Given the description of an element on the screen output the (x, y) to click on. 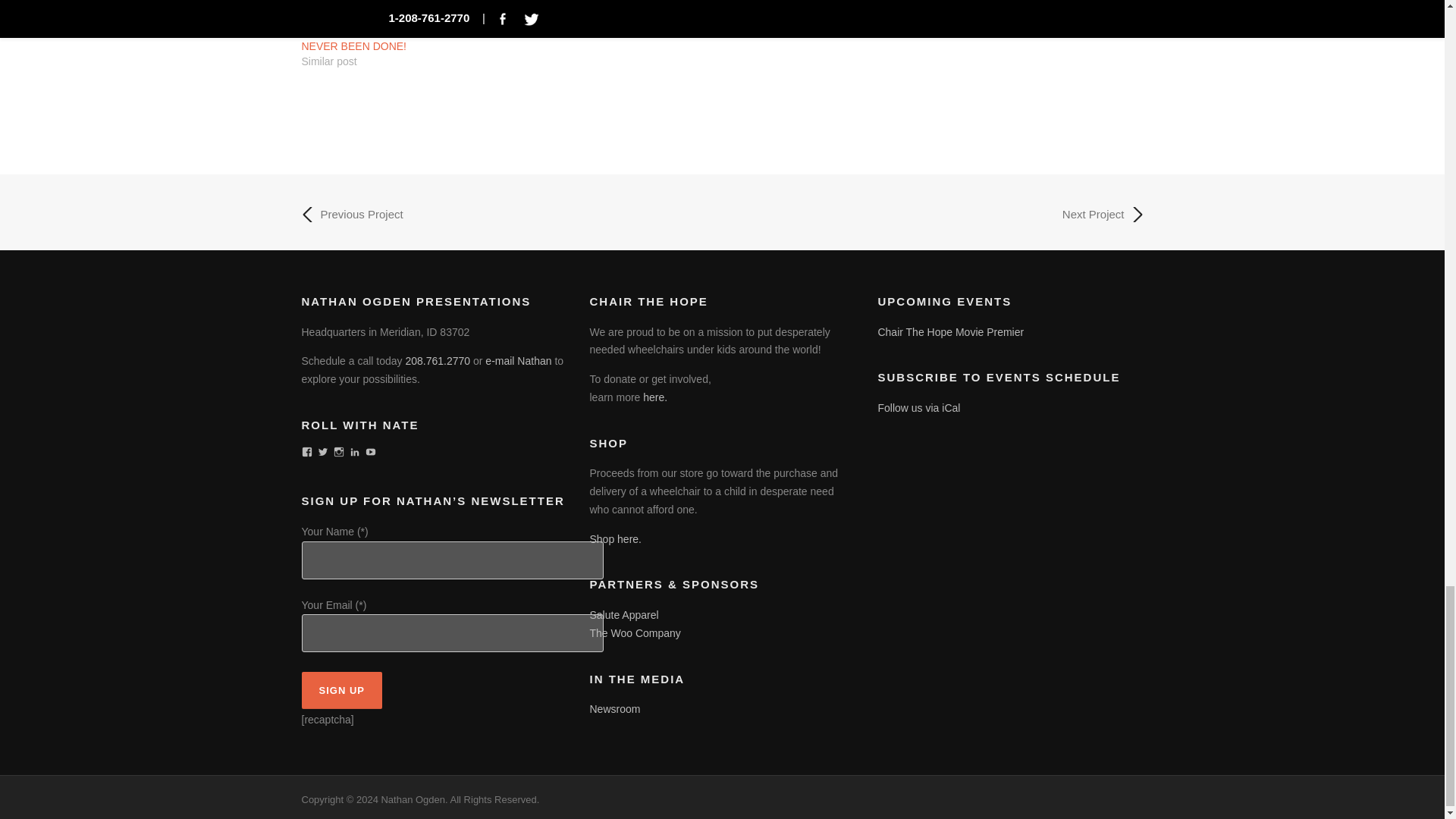
Sign Up (341, 690)
Follow us via iCal (918, 408)
Chair The Hope Movie Premier (950, 331)
Previous Project (352, 214)
208.761.2770 (437, 360)
Update: Nathan Ogden Announces Chair The Hope (978, 3)
Sign Up (341, 690)
here. (654, 397)
